Given the description of an element on the screen output the (x, y) to click on. 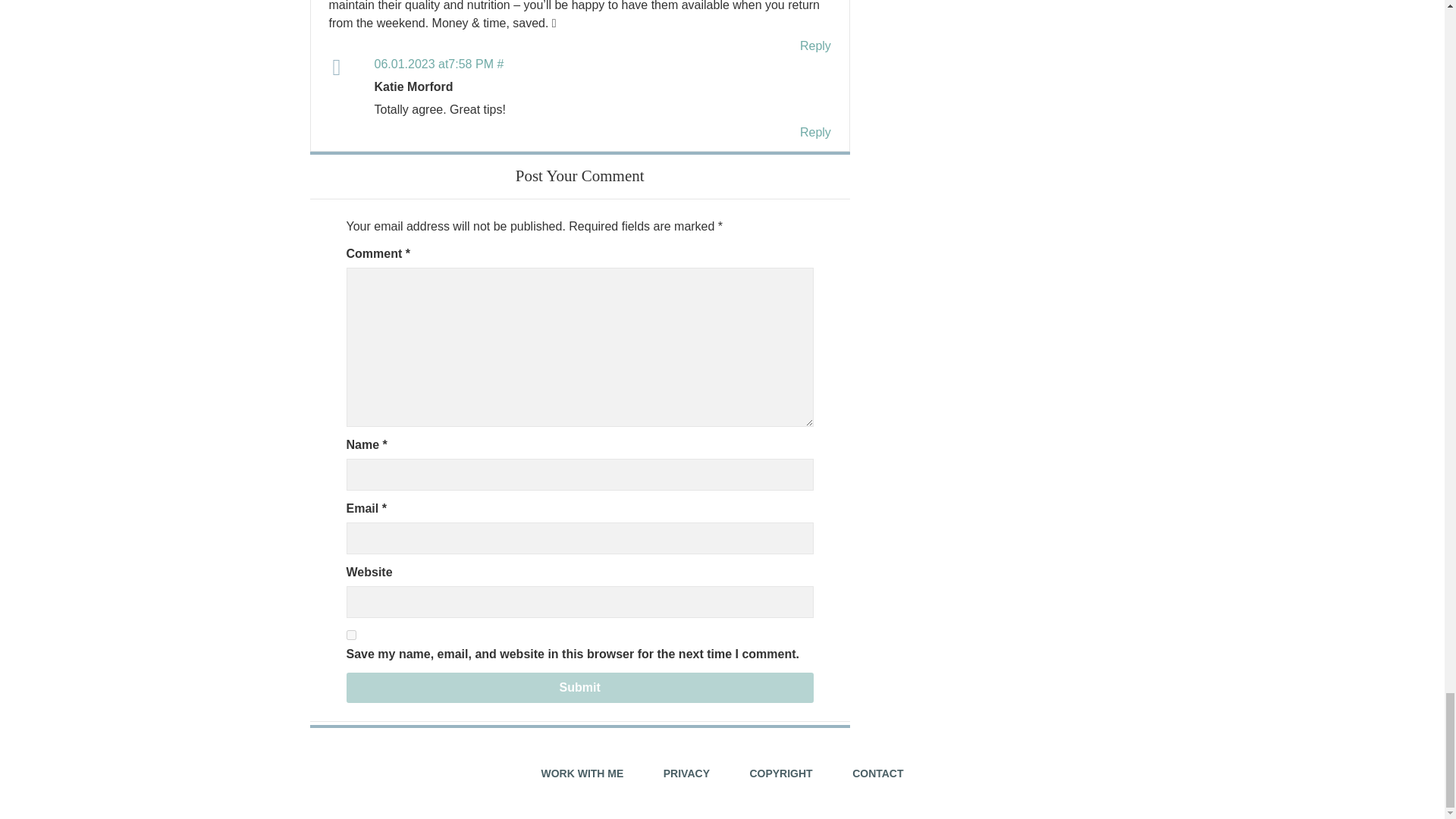
Submit (579, 687)
Submit (579, 687)
Reply (815, 132)
yes (350, 634)
Reply (815, 45)
